Given the description of an element on the screen output the (x, y) to click on. 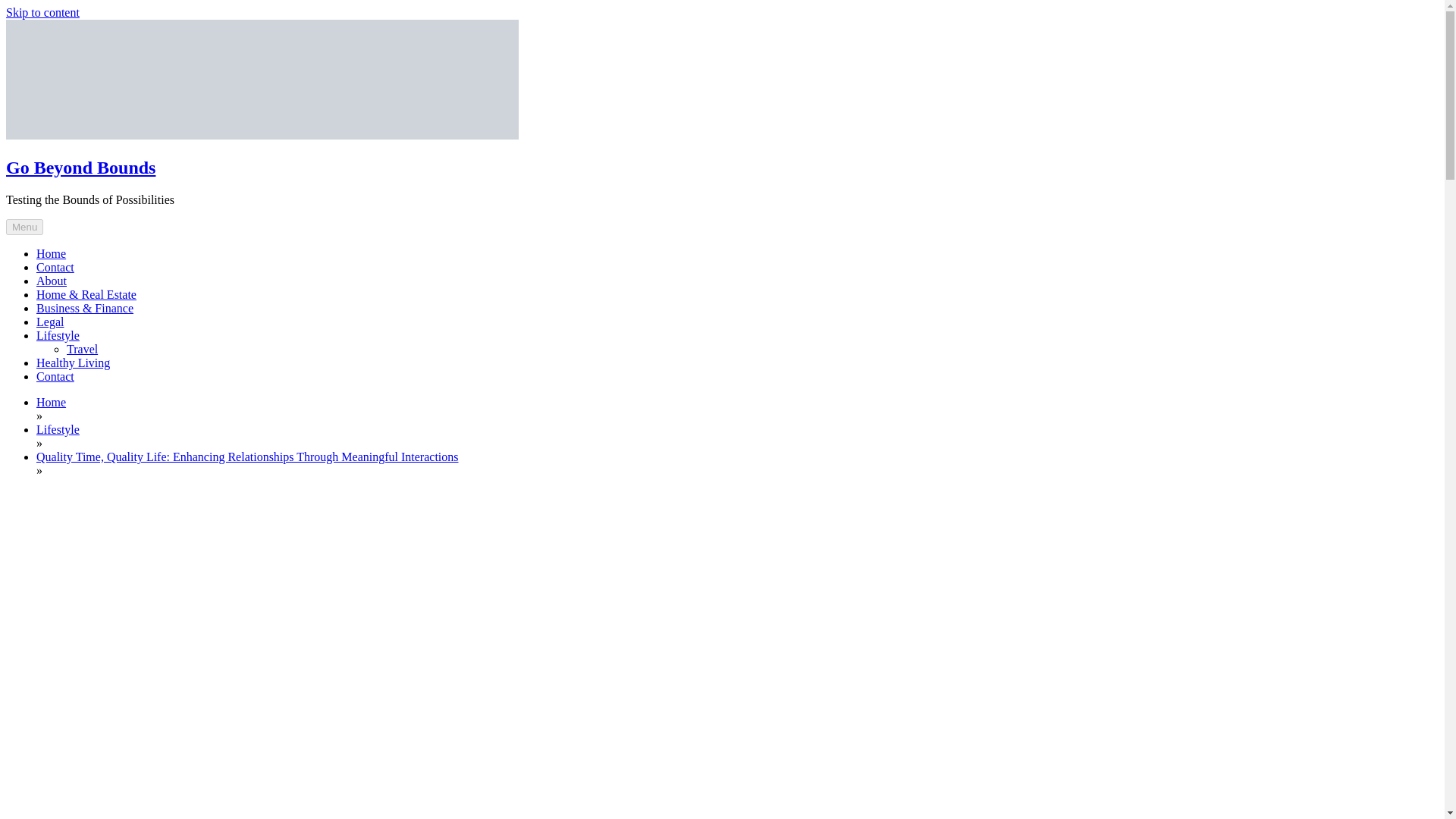
Lifestyle (58, 429)
Go Beyond Bounds (80, 167)
Legal (50, 321)
Home (50, 253)
Skip to content (42, 11)
Contact (55, 267)
Healthy Living (73, 362)
Lifestyle (58, 335)
Travel (81, 349)
Menu (24, 227)
About (51, 280)
Contact (55, 376)
Home (50, 401)
